Given the description of an element on the screen output the (x, y) to click on. 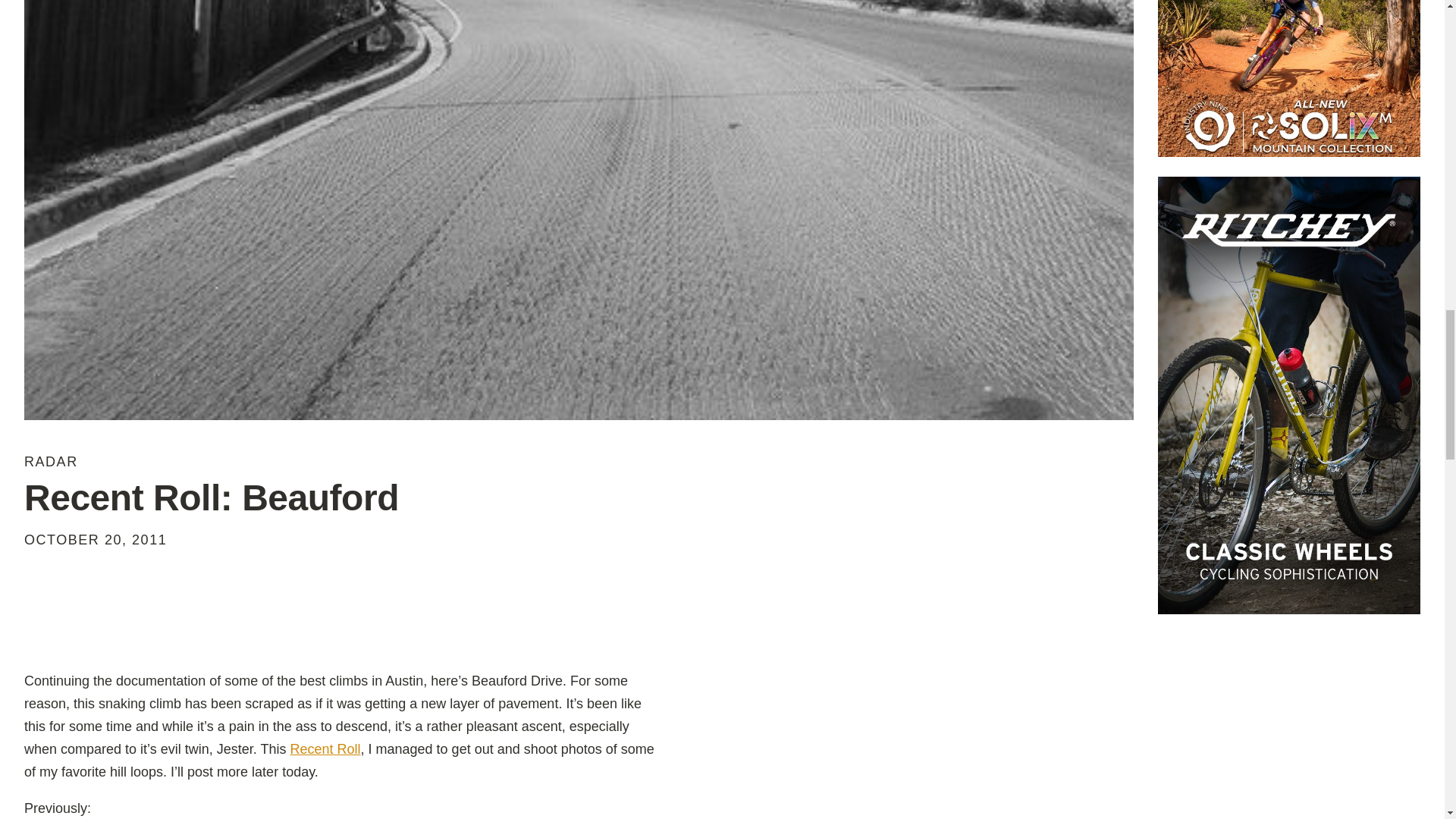
Ritchey Logic (1289, 395)
Industry Nine (1289, 78)
